Given the description of an element on the screen output the (x, y) to click on. 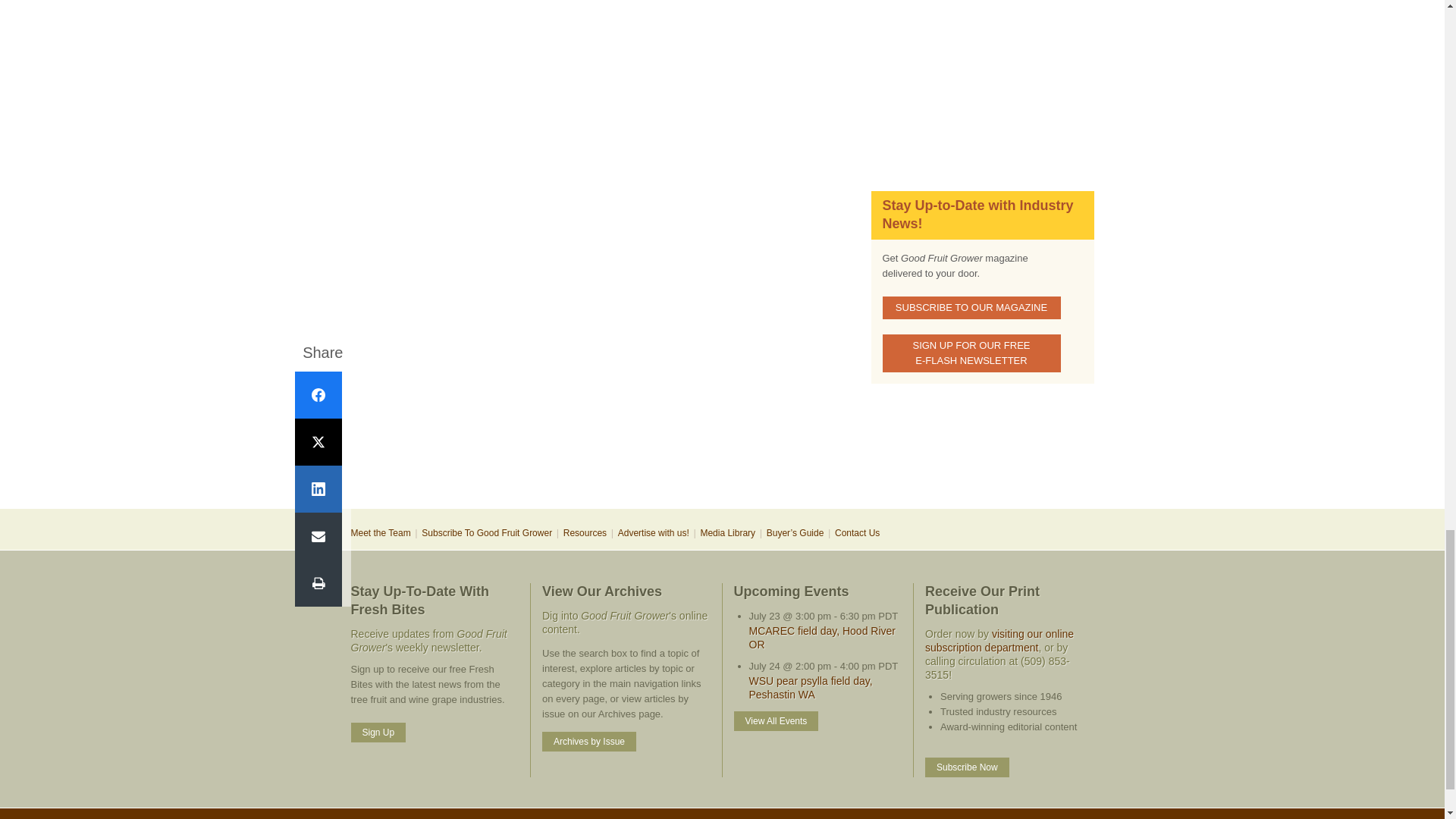
3rd party ad content (981, 78)
3rd party ad content (721, 458)
